Given the description of an element on the screen output the (x, y) to click on. 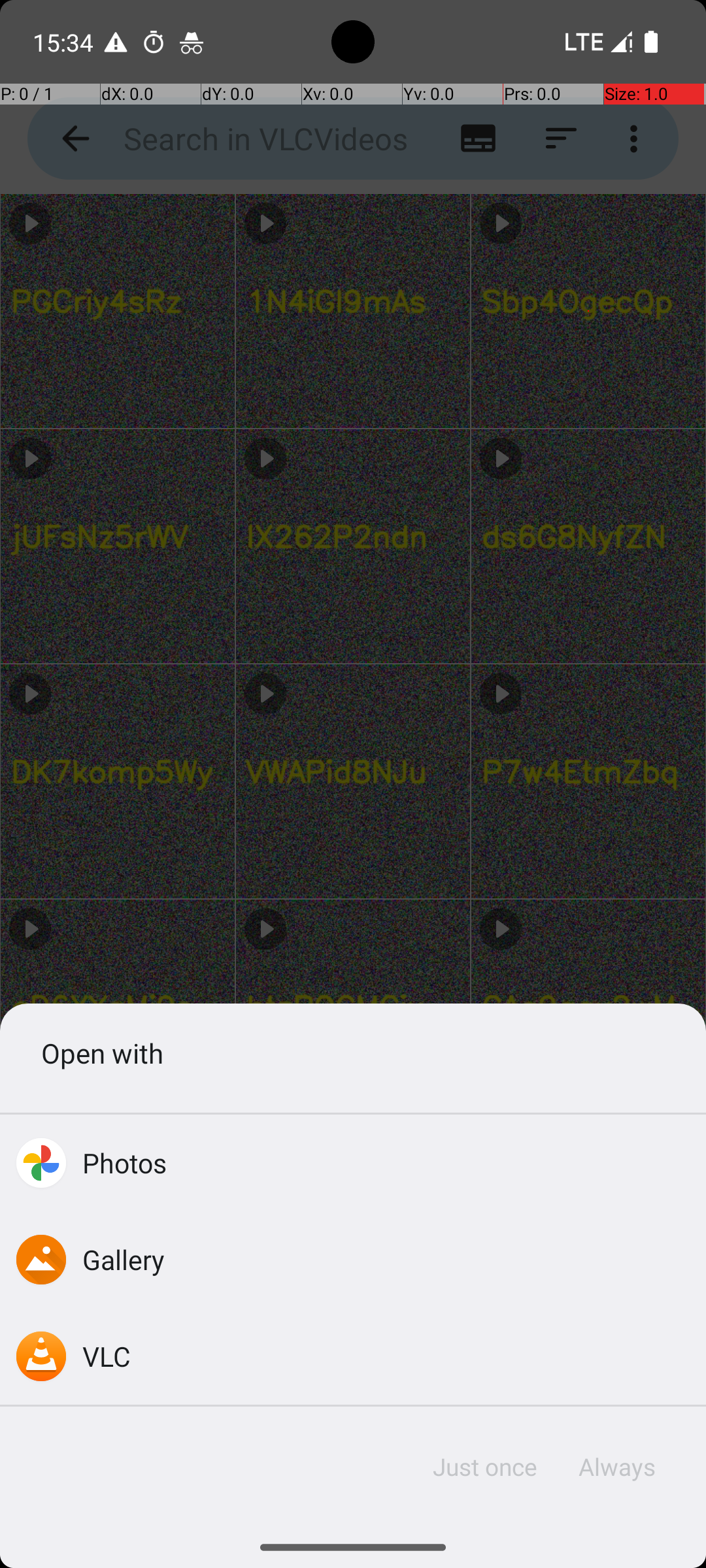
Open with Element type: android.widget.TextView (352, 1052)
Just once Element type: android.widget.Button (484, 1466)
Always Element type: android.widget.Button (616, 1466)
Gallery Element type: android.widget.TextView (123, 1258)
